Given the description of an element on the screen output the (x, y) to click on. 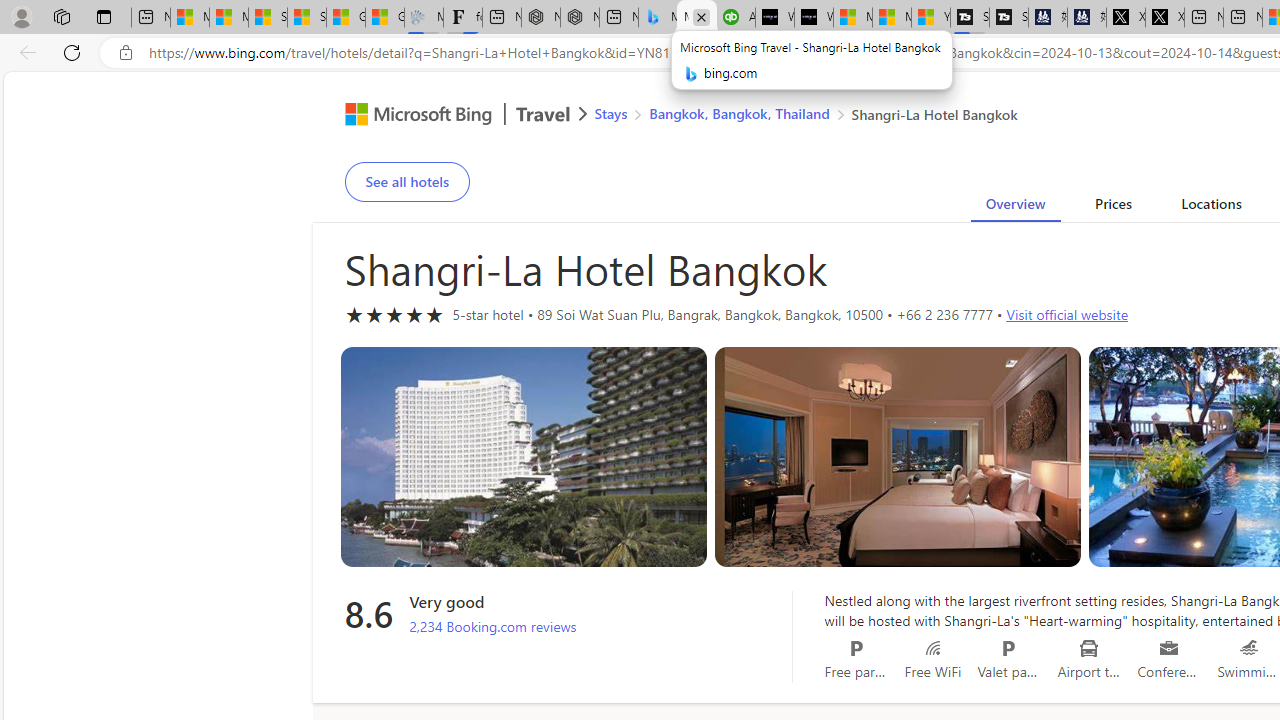
Swimming pool (1249, 647)
Bangkok, Bangkok, Thailand (738, 112)
Gilma and Hector both pose tropical trouble for Hawaii (385, 17)
Locations (1211, 207)
See all hotels (406, 182)
Microsoft Bing (410, 116)
Streaming Coverage | T3 (970, 17)
What's the best AI voice generator? - voice.ai (813, 17)
5-star hotel  (394, 314)
Microsoft Bing Travel - Stays in Bangkok, Bangkok, Thailand (657, 17)
Airport transportation (1089, 647)
Valet parking (1008, 647)
Refresh (72, 52)
Microsoft Bing Travel - Shangri-La Hotel Bangkok (696, 17)
Shanghai, China weather forecast | Microsoft Weather (307, 17)
